Given the description of an element on the screen output the (x, y) to click on. 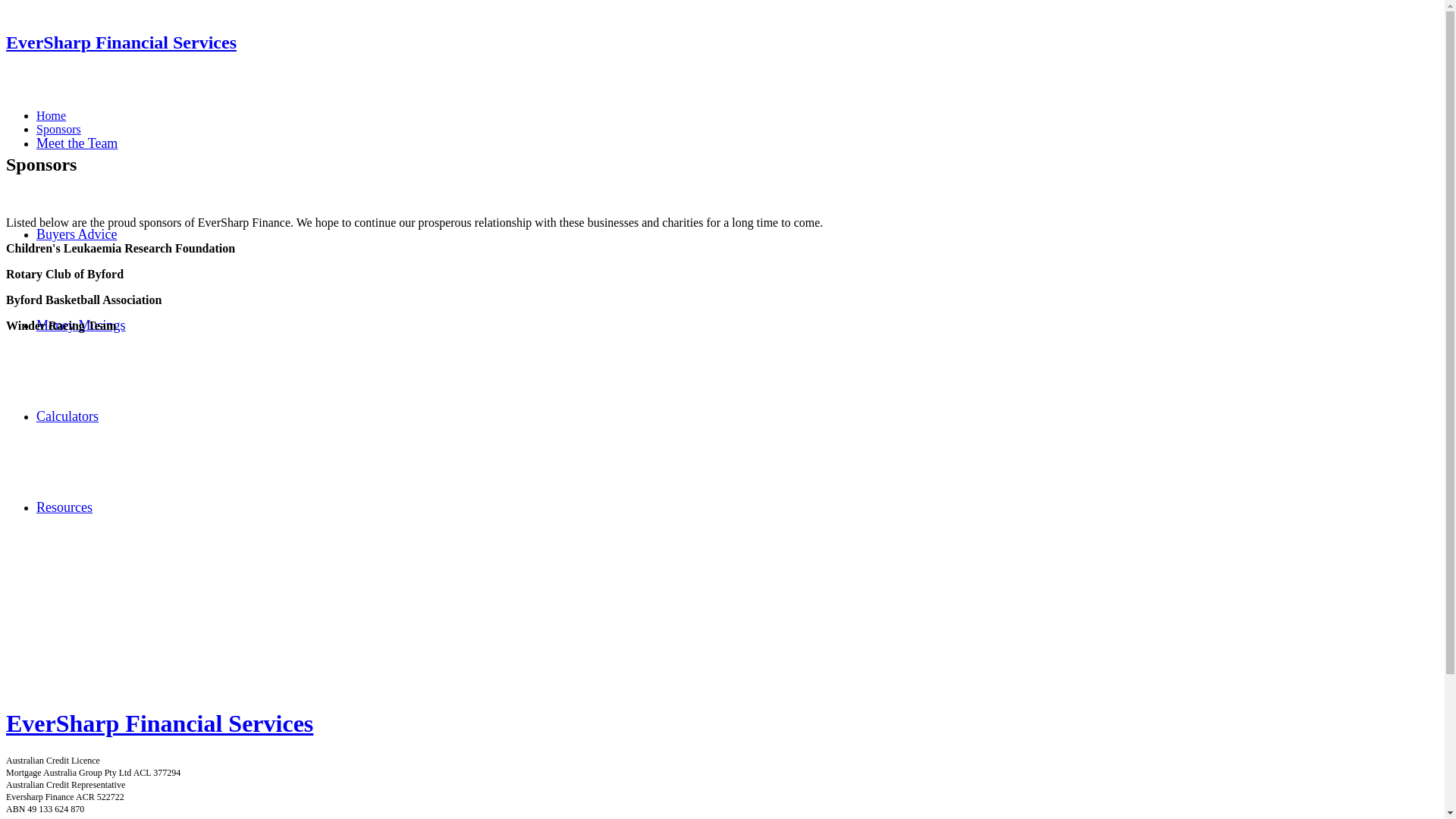
Resources Element type: text (64, 506)
Home Element type: text (50, 115)
Money Musings Element type: text (80, 324)
Sponsors Element type: text (58, 128)
Buyers Advice Element type: text (76, 233)
EverSharp Financial Services Element type: text (722, 723)
EverSharp Financial Services Element type: text (121, 42)
Meet the Team Element type: text (76, 142)
Calculators Element type: text (67, 415)
